Given the description of an element on the screen output the (x, y) to click on. 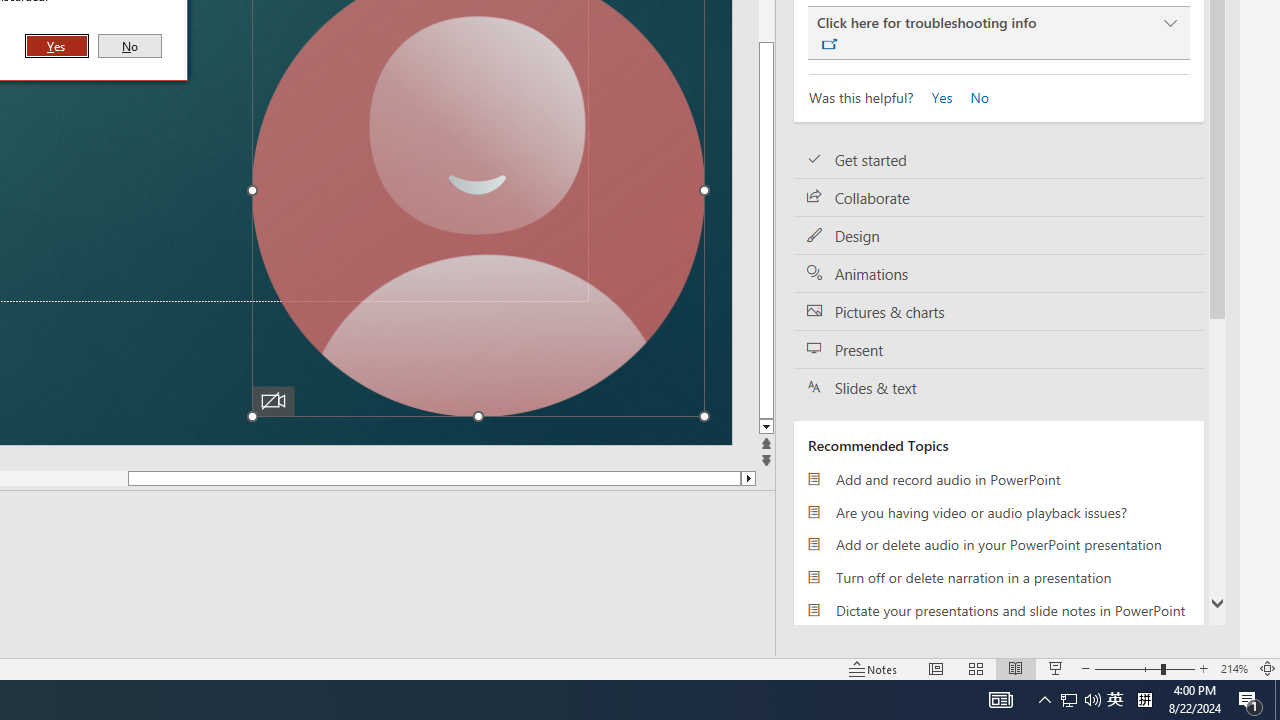
Turn off or delete narration in a presentation (998, 577)
Get started (998, 160)
Slides & text (998, 387)
No (972, 96)
No (130, 45)
Zoom 214% (1234, 668)
